Given the description of an element on the screen output the (x, y) to click on. 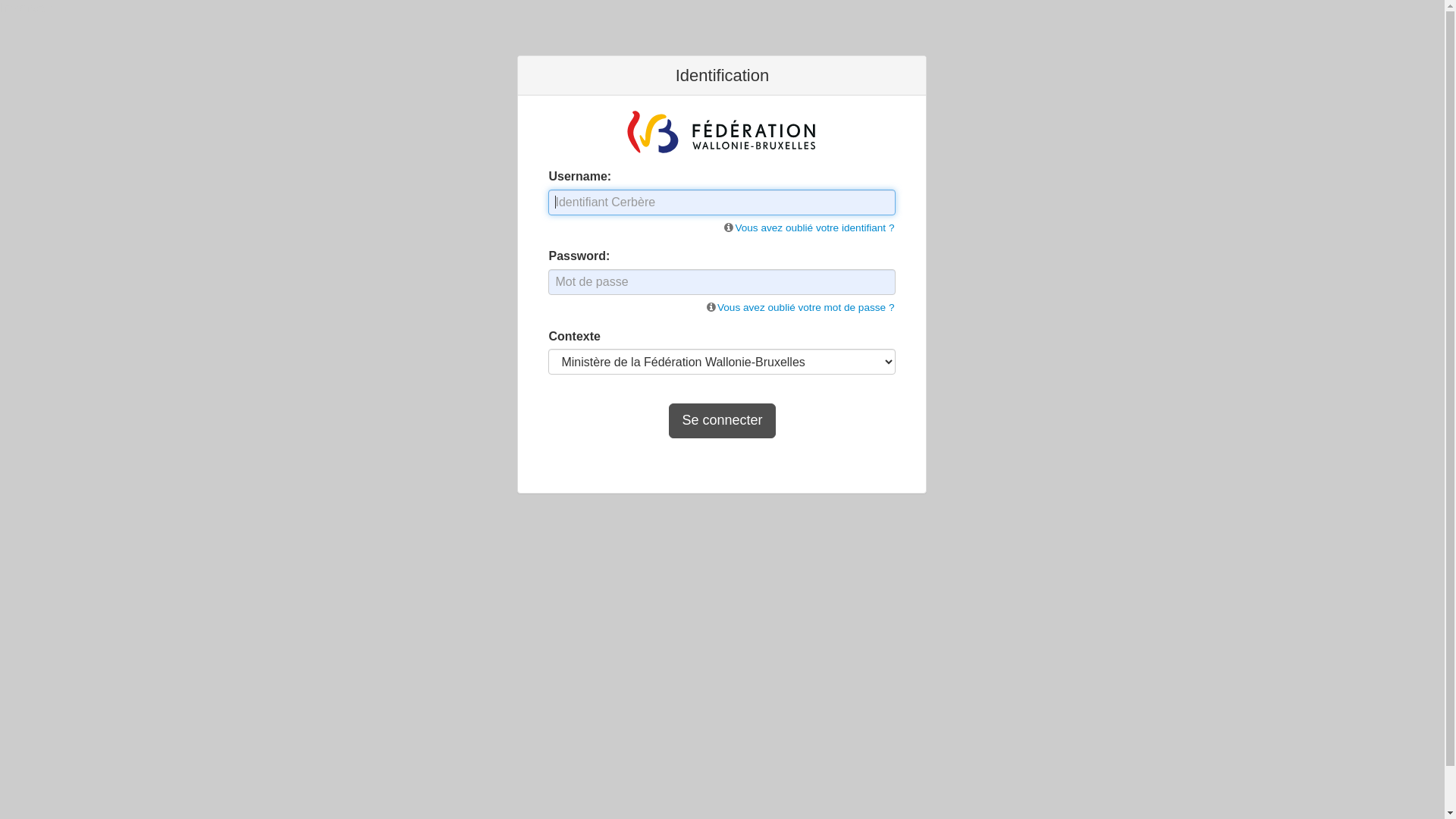
Se connecter Element type: text (721, 420)
